Given the description of an element on the screen output the (x, y) to click on. 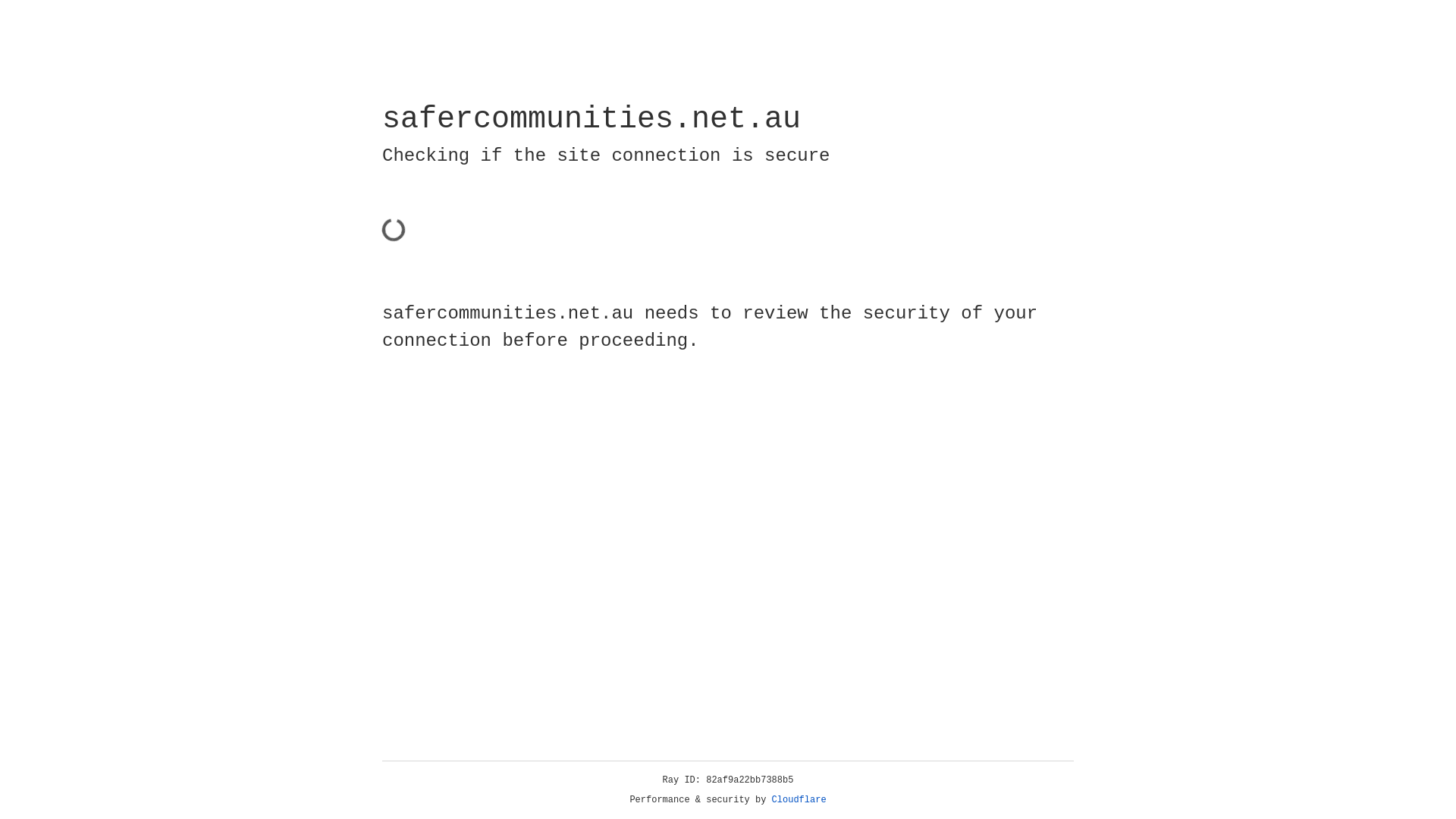
Cloudflare Element type: text (798, 799)
